Given the description of an element on the screen output the (x, y) to click on. 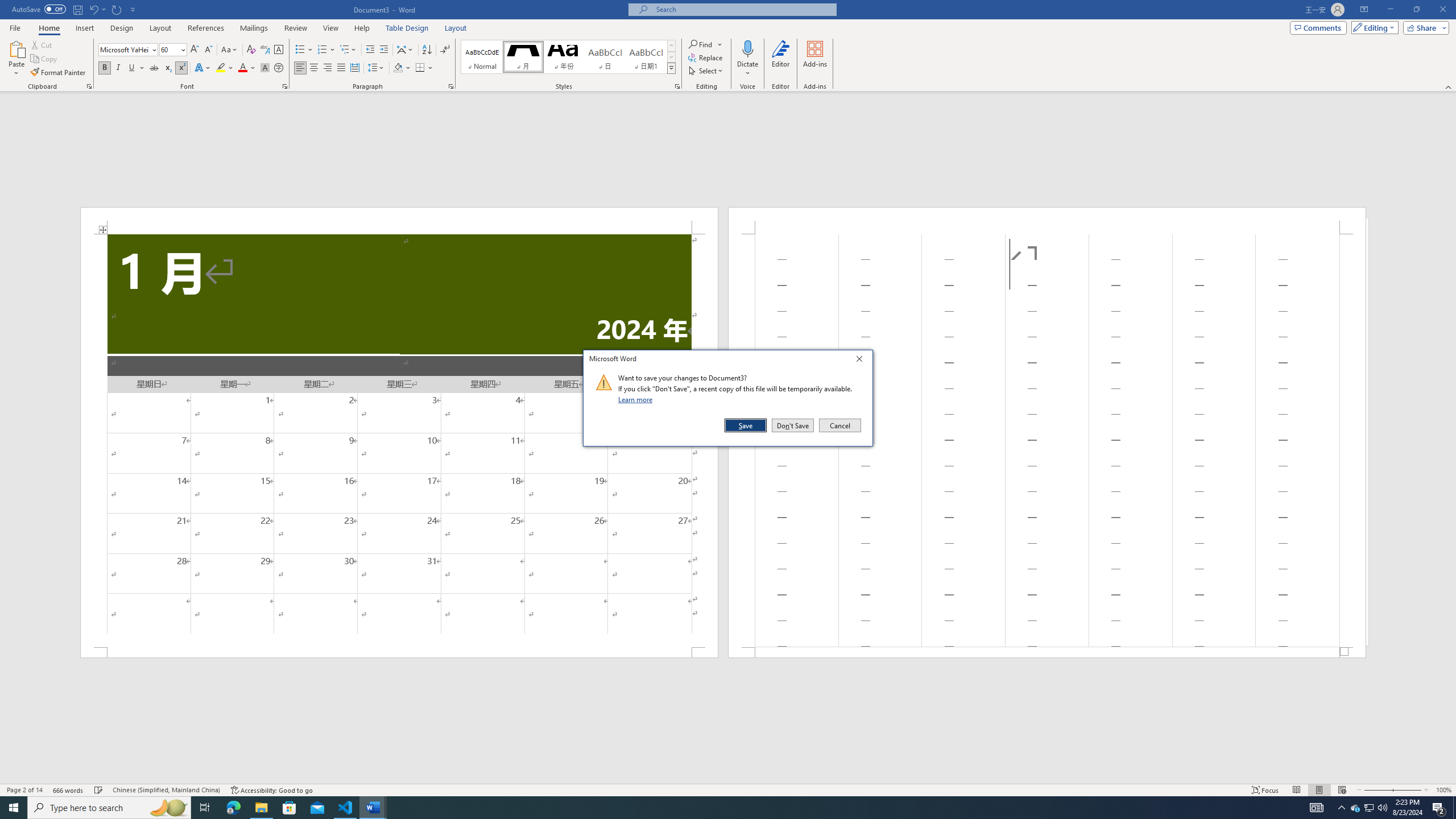
Enclose Characters... (278, 67)
Word Count 666 words (68, 790)
Learn more (636, 399)
Undo Superscript (92, 9)
File Explorer - 1 running window (261, 807)
Page Number Page 2 of 14 (24, 790)
Don't Save (792, 425)
Replace... (705, 56)
